Given the description of an element on the screen output the (x, y) to click on. 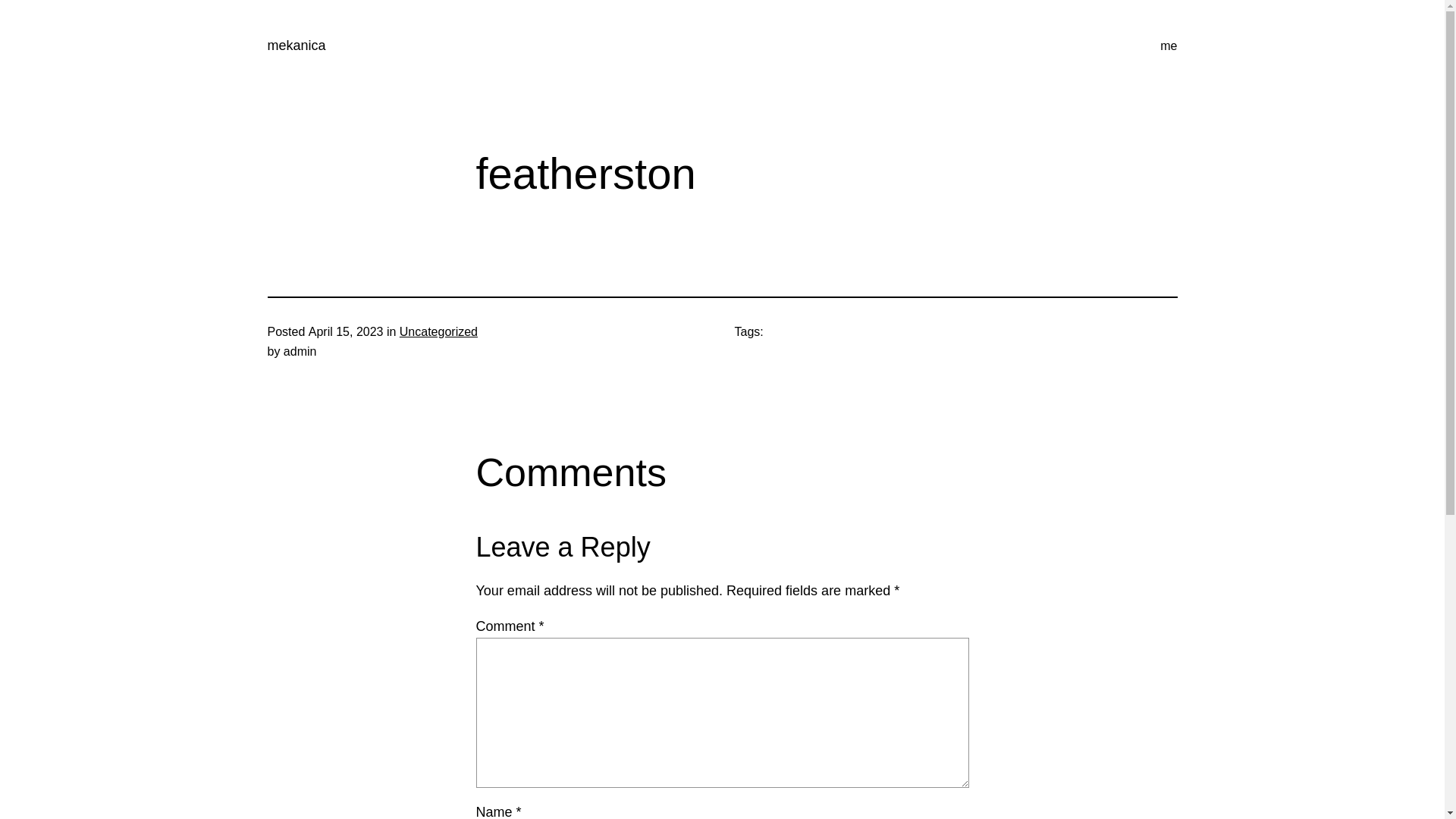
me Element type: text (1168, 46)
mekanica Element type: text (295, 45)
Uncategorized Element type: text (438, 331)
